Given the description of an element on the screen output the (x, y) to click on. 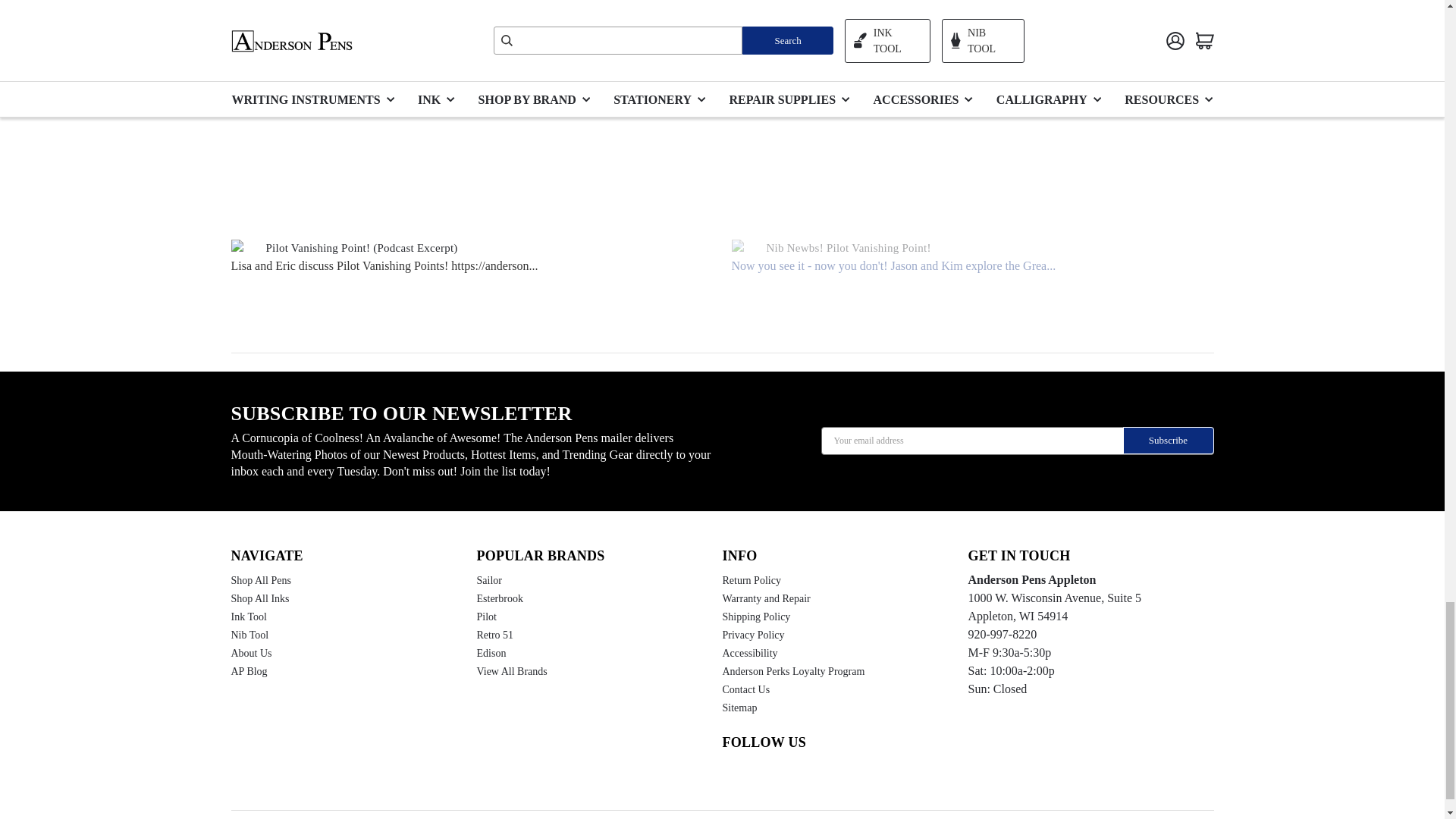
Facebook (785, 774)
Twitter (814, 774)
Subscribe (1167, 440)
Instagram (730, 774)
Youtube (759, 774)
